Given the description of an element on the screen output the (x, y) to click on. 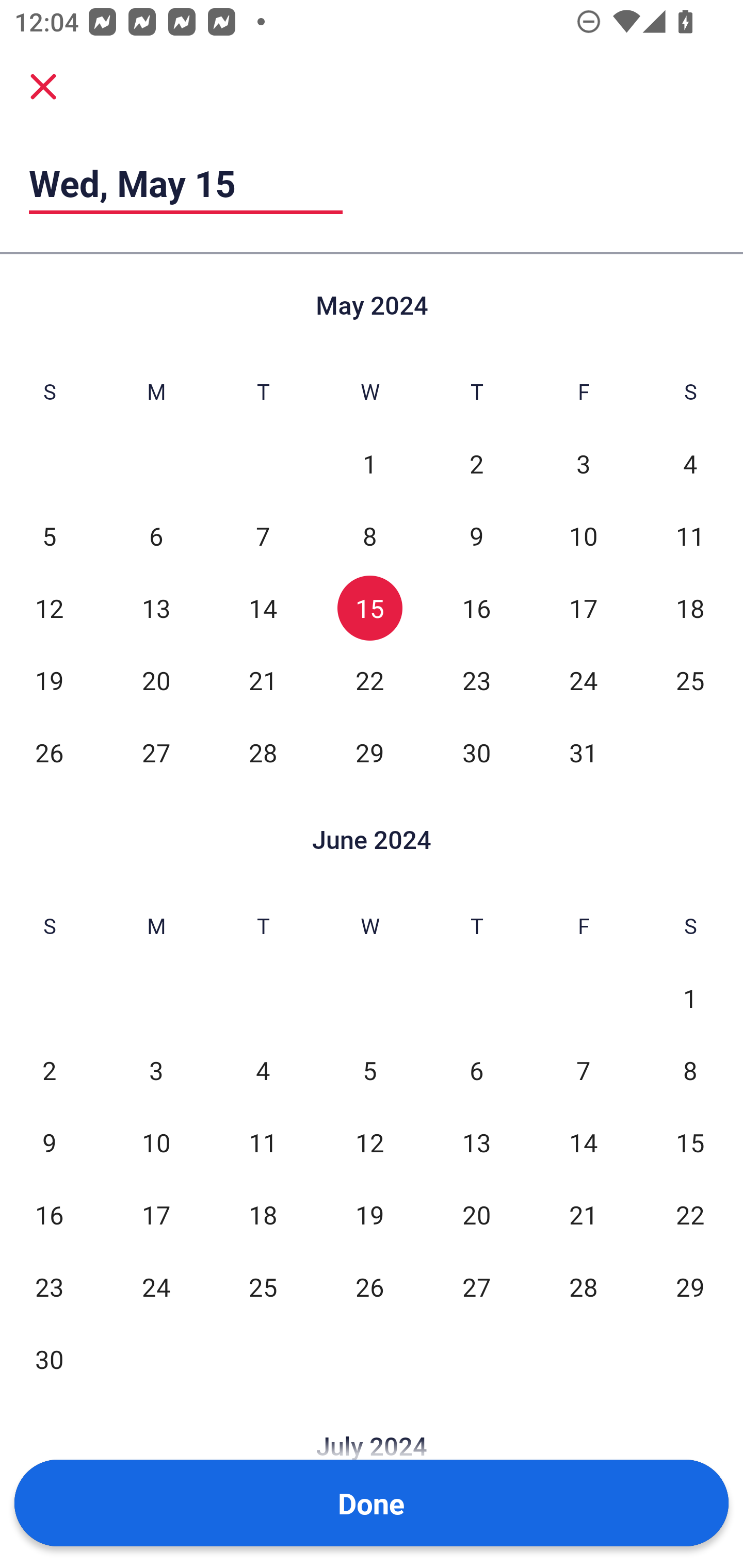
Cancel (43, 86)
Wed, May 15 (185, 182)
1 Wed, May 1, Not Selected (369, 464)
2 Thu, May 2, Not Selected (476, 464)
3 Fri, May 3, Not Selected (583, 464)
4 Sat, May 4, Not Selected (690, 464)
5 Sun, May 5, Not Selected (49, 536)
6 Mon, May 6, Not Selected (156, 536)
7 Tue, May 7, Not Selected (263, 536)
8 Wed, May 8, Not Selected (369, 536)
9 Thu, May 9, Not Selected (476, 536)
10 Fri, May 10, Not Selected (583, 536)
11 Sat, May 11, Not Selected (690, 536)
12 Sun, May 12, Not Selected (49, 608)
13 Mon, May 13, Not Selected (156, 608)
14 Tue, May 14, Not Selected (263, 608)
15 Wed, May 15, Selected (369, 608)
16 Thu, May 16, Not Selected (476, 608)
17 Fri, May 17, Not Selected (583, 608)
18 Sat, May 18, Not Selected (690, 608)
19 Sun, May 19, Not Selected (49, 680)
20 Mon, May 20, Not Selected (156, 680)
21 Tue, May 21, Not Selected (263, 680)
22 Wed, May 22, Not Selected (369, 680)
23 Thu, May 23, Not Selected (476, 680)
24 Fri, May 24, Not Selected (583, 680)
25 Sat, May 25, Not Selected (690, 680)
26 Sun, May 26, Not Selected (49, 752)
27 Mon, May 27, Not Selected (156, 752)
28 Tue, May 28, Not Selected (263, 752)
29 Wed, May 29, Not Selected (369, 752)
30 Thu, May 30, Not Selected (476, 752)
31 Fri, May 31, Not Selected (583, 752)
1 Sat, Jun 1, Not Selected (690, 997)
2 Sun, Jun 2, Not Selected (49, 1070)
3 Mon, Jun 3, Not Selected (156, 1070)
4 Tue, Jun 4, Not Selected (263, 1070)
5 Wed, Jun 5, Not Selected (369, 1070)
6 Thu, Jun 6, Not Selected (476, 1070)
7 Fri, Jun 7, Not Selected (583, 1070)
8 Sat, Jun 8, Not Selected (690, 1070)
9 Sun, Jun 9, Not Selected (49, 1143)
10 Mon, Jun 10, Not Selected (156, 1143)
11 Tue, Jun 11, Not Selected (263, 1143)
12 Wed, Jun 12, Not Selected (369, 1143)
13 Thu, Jun 13, Not Selected (476, 1143)
14 Fri, Jun 14, Not Selected (583, 1143)
15 Sat, Jun 15, Not Selected (690, 1143)
16 Sun, Jun 16, Not Selected (49, 1215)
17 Mon, Jun 17, Not Selected (156, 1215)
